Given the description of an element on the screen output the (x, y) to click on. 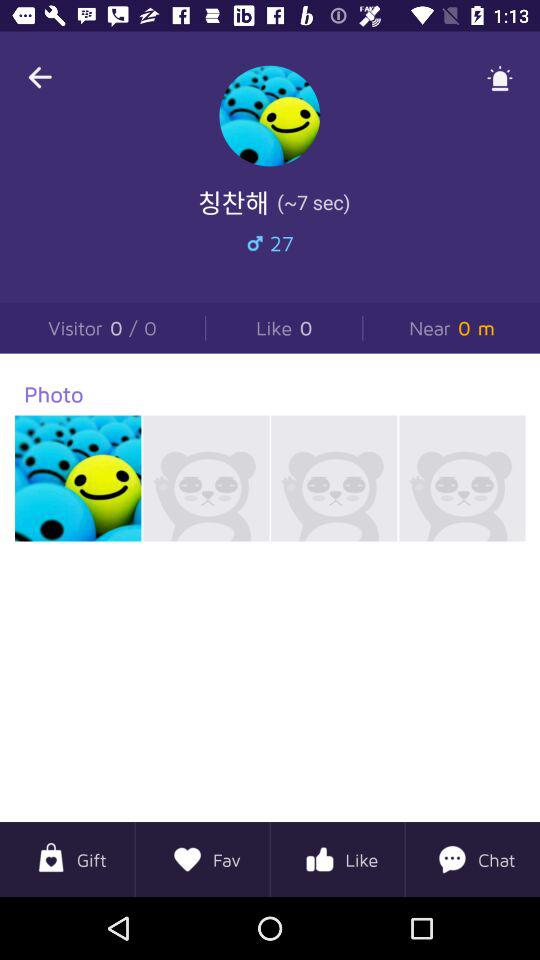
select the top left arrow which is in blue background (40, 77)
click on 1st photo (77, 478)
